Given the description of an element on the screen output the (x, y) to click on. 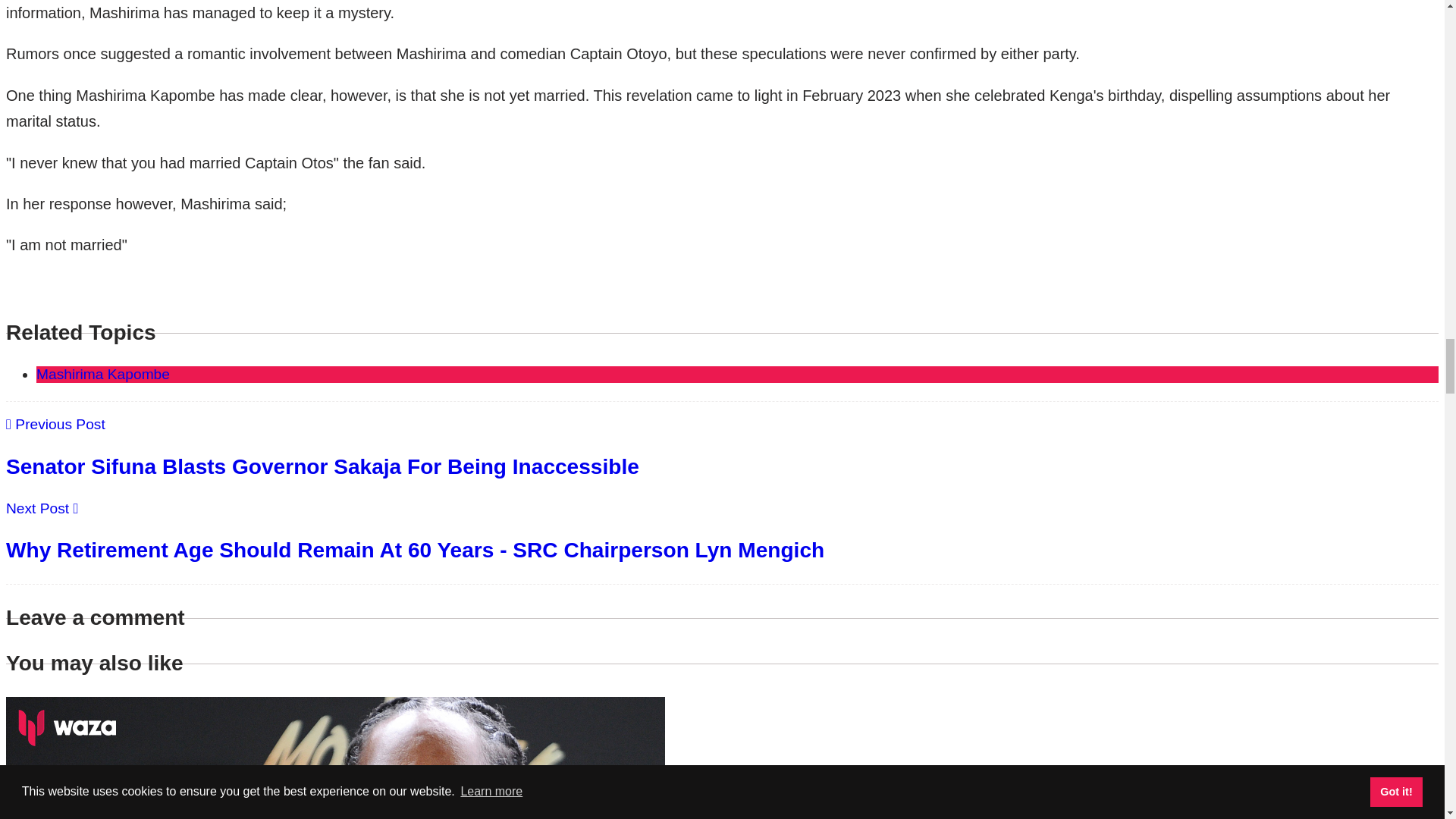
Topic: Mashirima Kapombe (103, 374)
Senator Sifuna Blasts Governor Sakaja For Being Inaccessible (322, 466)
Senator Sifuna Blasts Governor Sakaja For Being Inaccessible (322, 466)
Senator Sifuna Blasts Governor Sakaja For Being Inaccessible (54, 424)
Next Post (41, 508)
Previous Post (54, 424)
Mashirima Kapombe (103, 374)
